Given the description of an element on the screen output the (x, y) to click on. 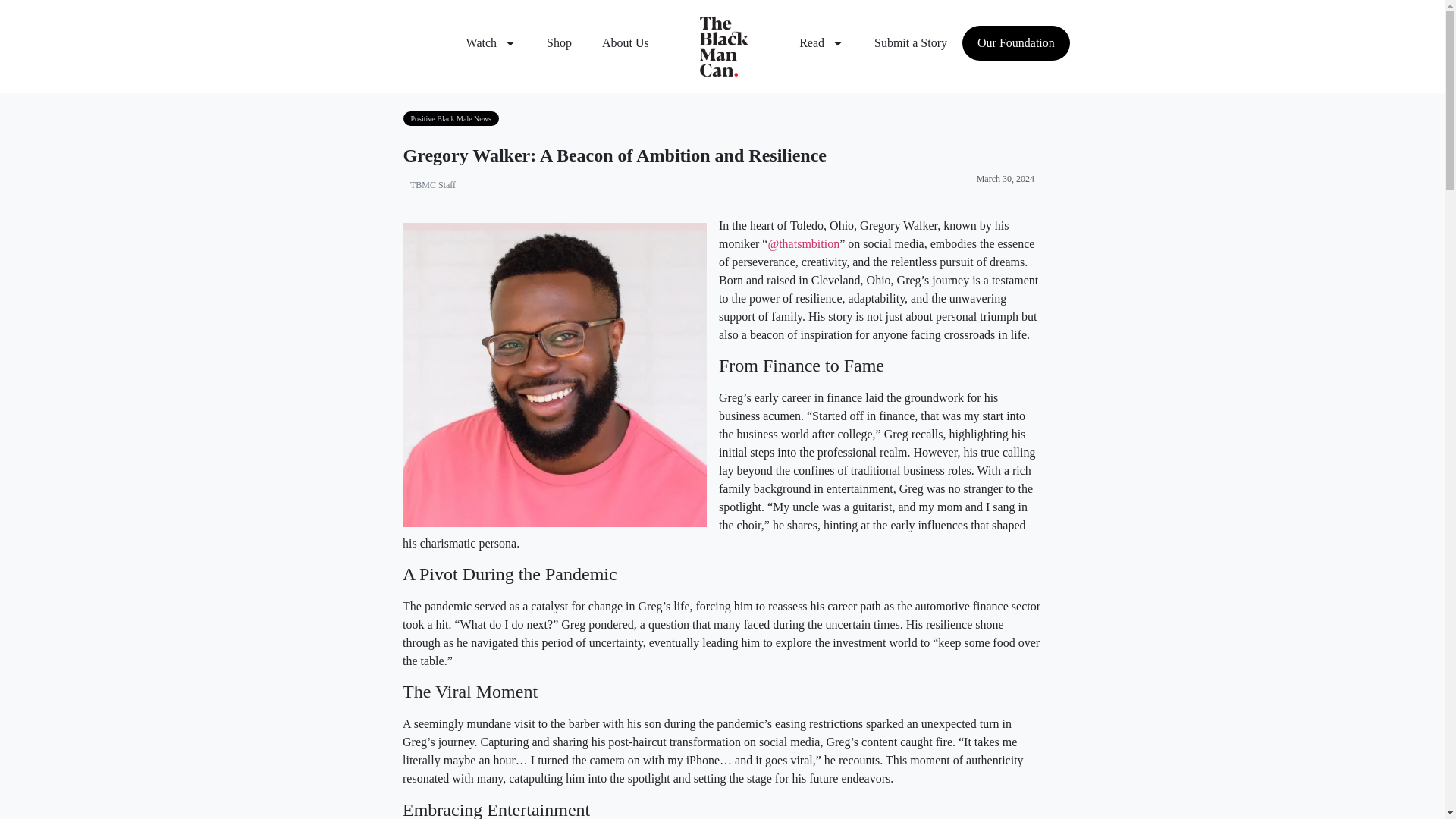
Read (821, 42)
Watch (491, 42)
Our Foundation (1016, 42)
Shop (558, 42)
About Us (624, 42)
Submit a Story (910, 42)
Positive Black Male News (451, 118)
March 30, 2024 (1002, 179)
